Given the description of an element on the screen output the (x, y) to click on. 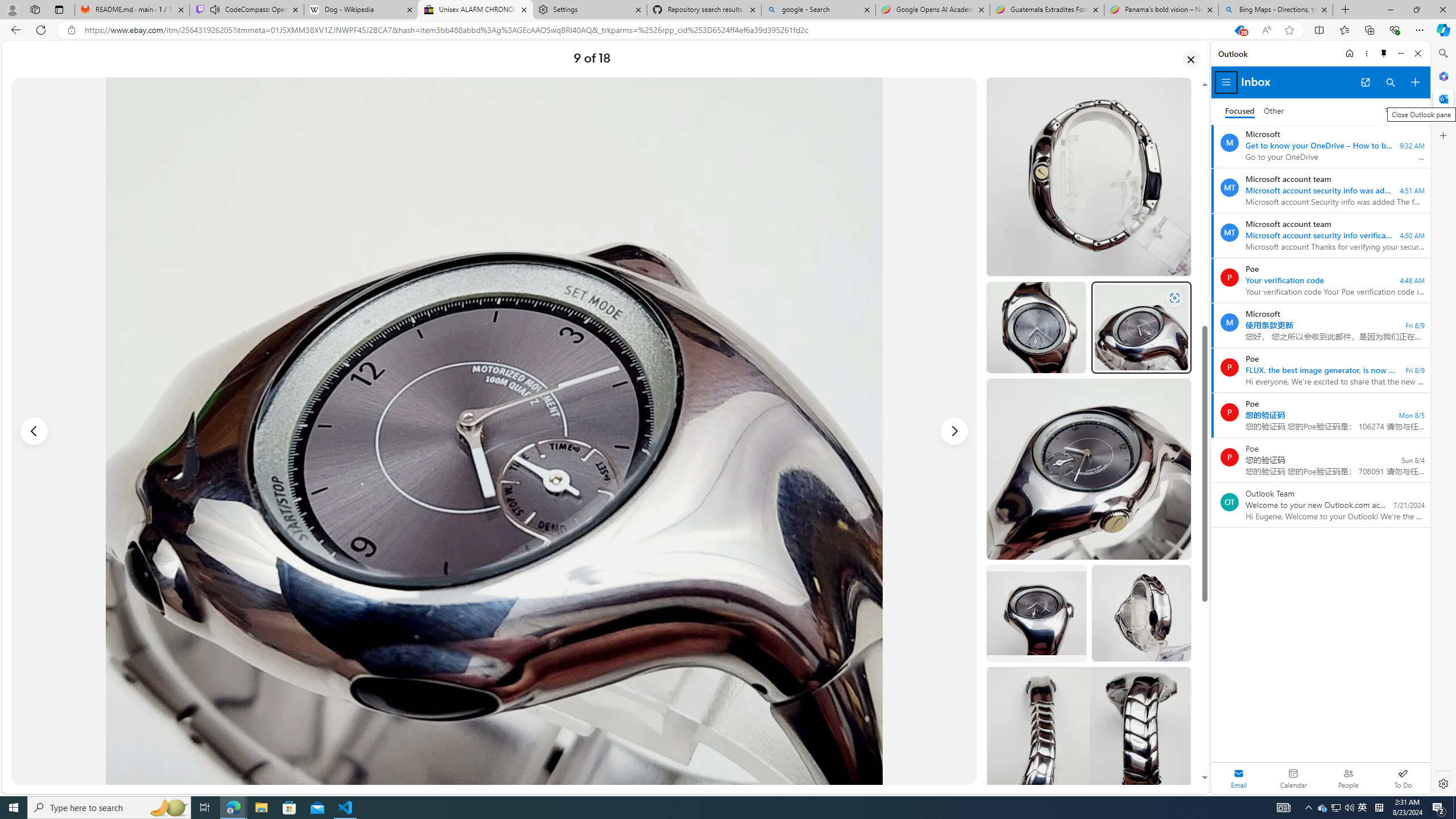
Open in new tab (1365, 82)
Next image - Item images thumbnails (954, 430)
